Given the description of an element on the screen output the (x, y) to click on. 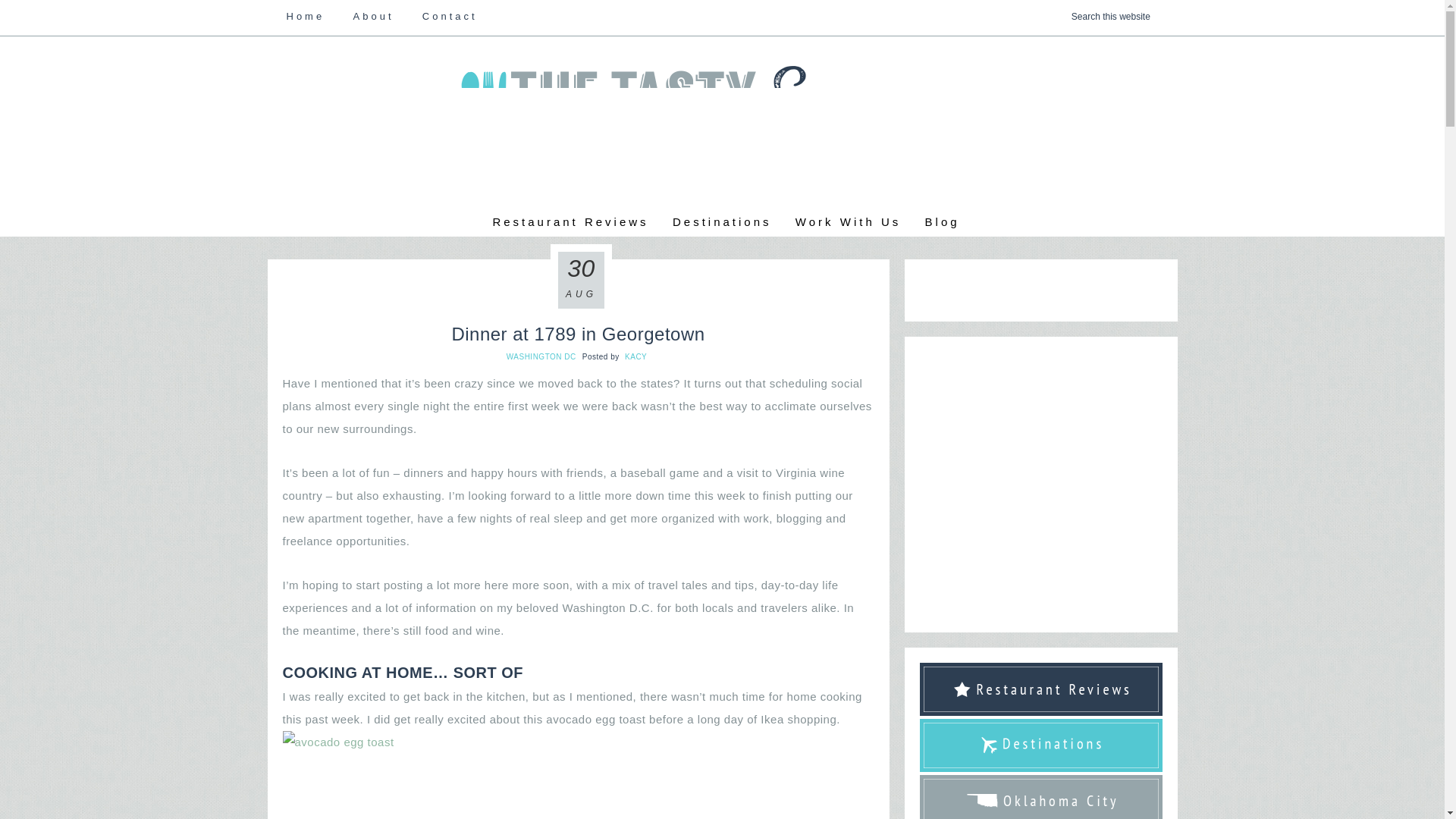
About (374, 16)
Home (305, 16)
Destinations (721, 221)
Contact (449, 16)
Restaurant Reviews (570, 221)
